Given the description of an element on the screen output the (x, y) to click on. 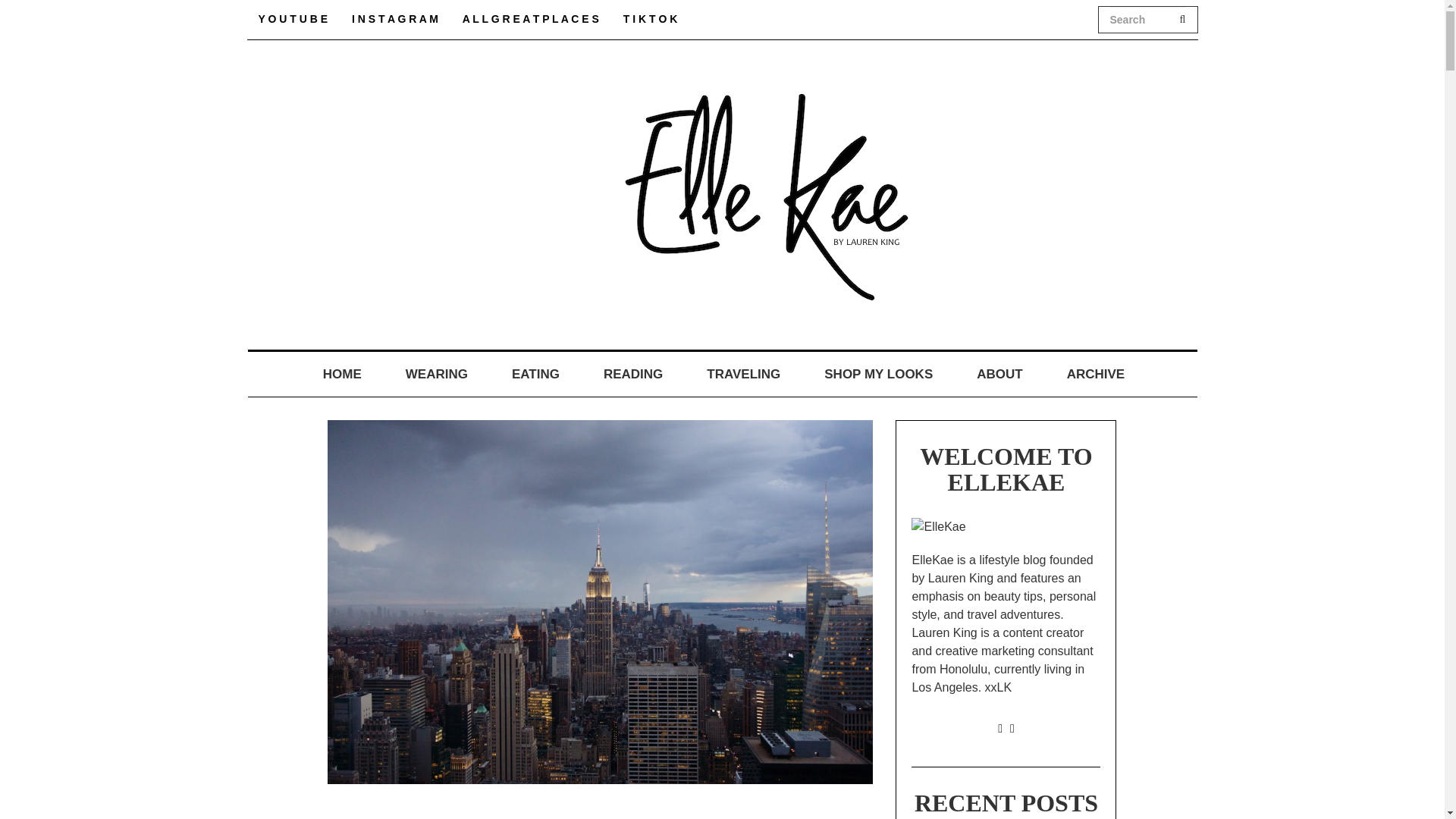
T I K T O K (649, 19)
I N S T A G R A M (394, 19)
Y O U T U B E (293, 19)
ARCHIVE (1095, 374)
A L L G R E A T P L A C E S (530, 19)
